Given the description of an element on the screen output the (x, y) to click on. 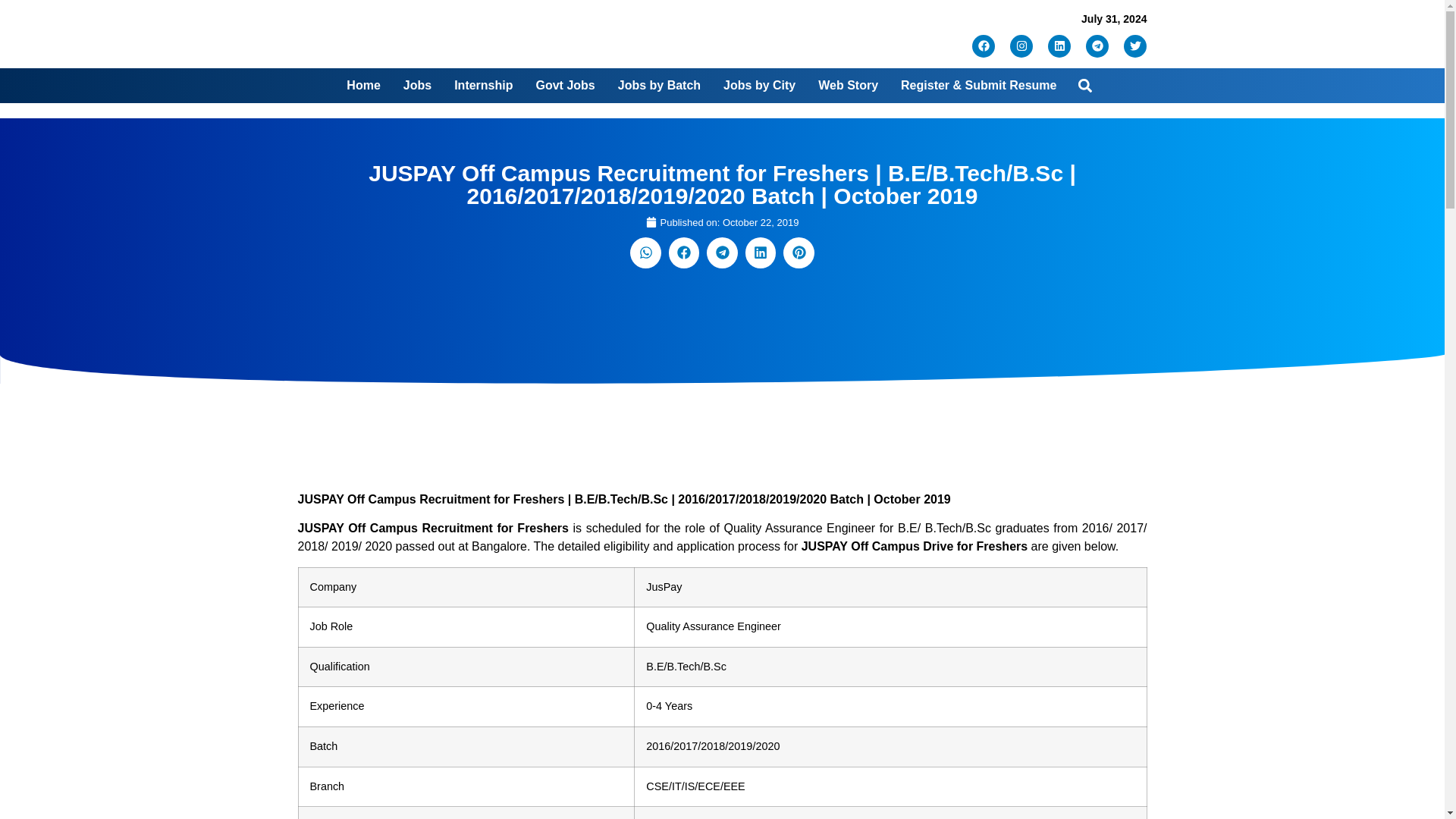
Jobs by City (758, 85)
Jobs by Batch (658, 85)
Home (363, 85)
Govt Jobs (564, 85)
Internship (483, 85)
Web Story (847, 85)
